Given the description of an element on the screen output the (x, y) to click on. 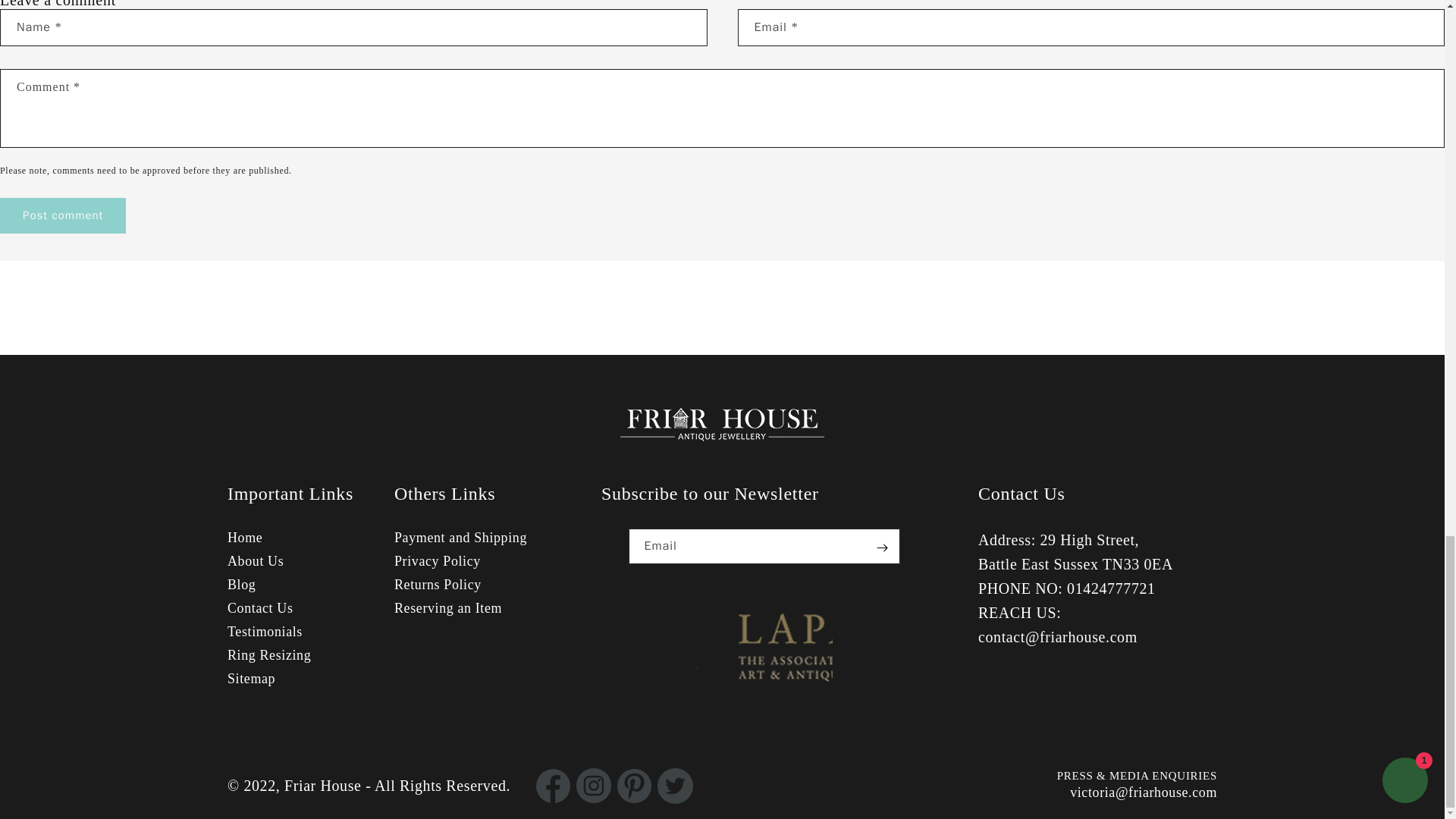
Post comment (62, 215)
